Given the description of an element on the screen output the (x, y) to click on. 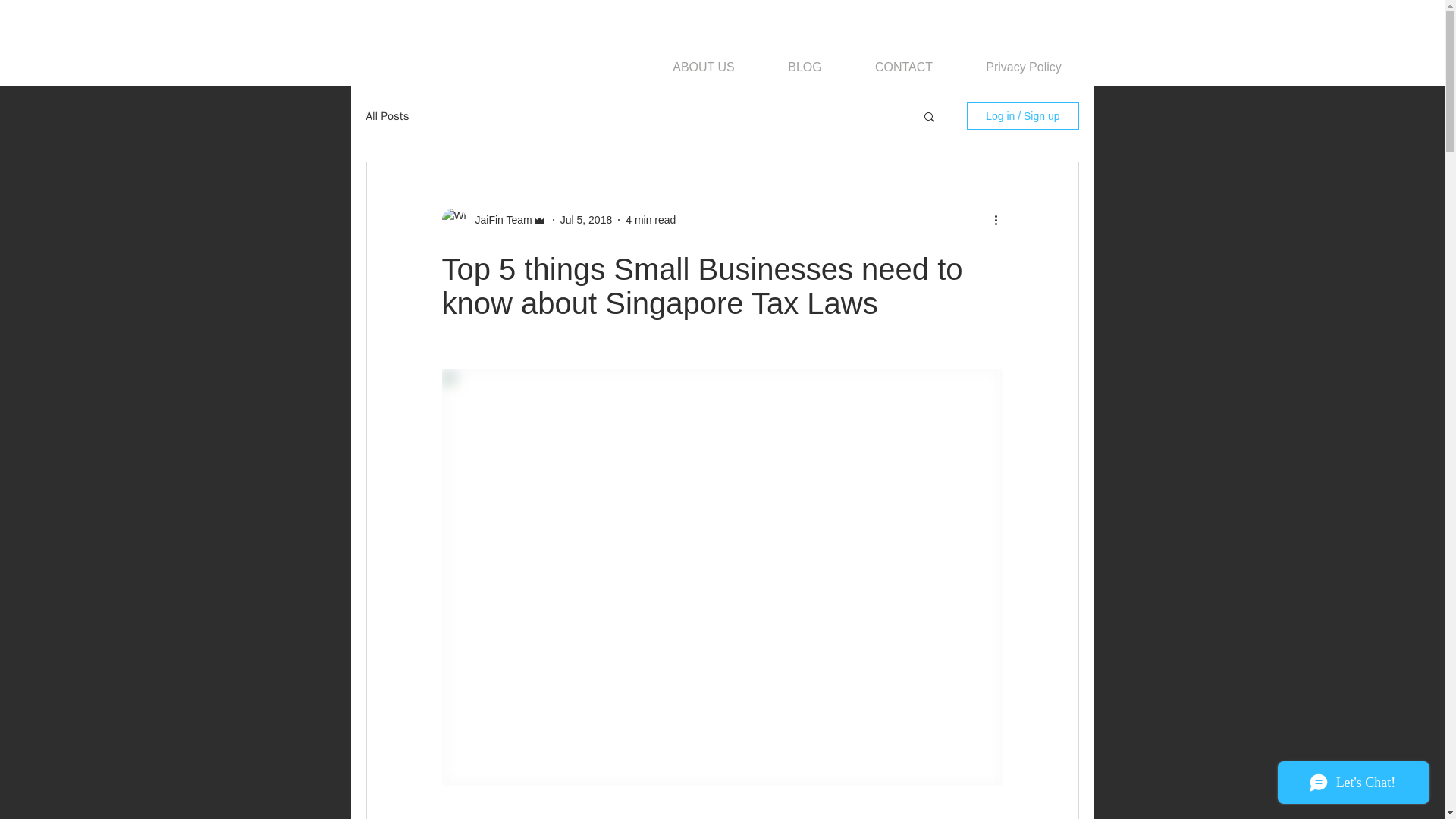
All Posts (387, 115)
JaiFin Team (498, 220)
Privacy Policy (1022, 67)
Jul 5, 2018 (586, 219)
BLOG (804, 67)
4 min read (650, 219)
ABOUT US (703, 67)
CONTACT (903, 67)
